Given the description of an element on the screen output the (x, y) to click on. 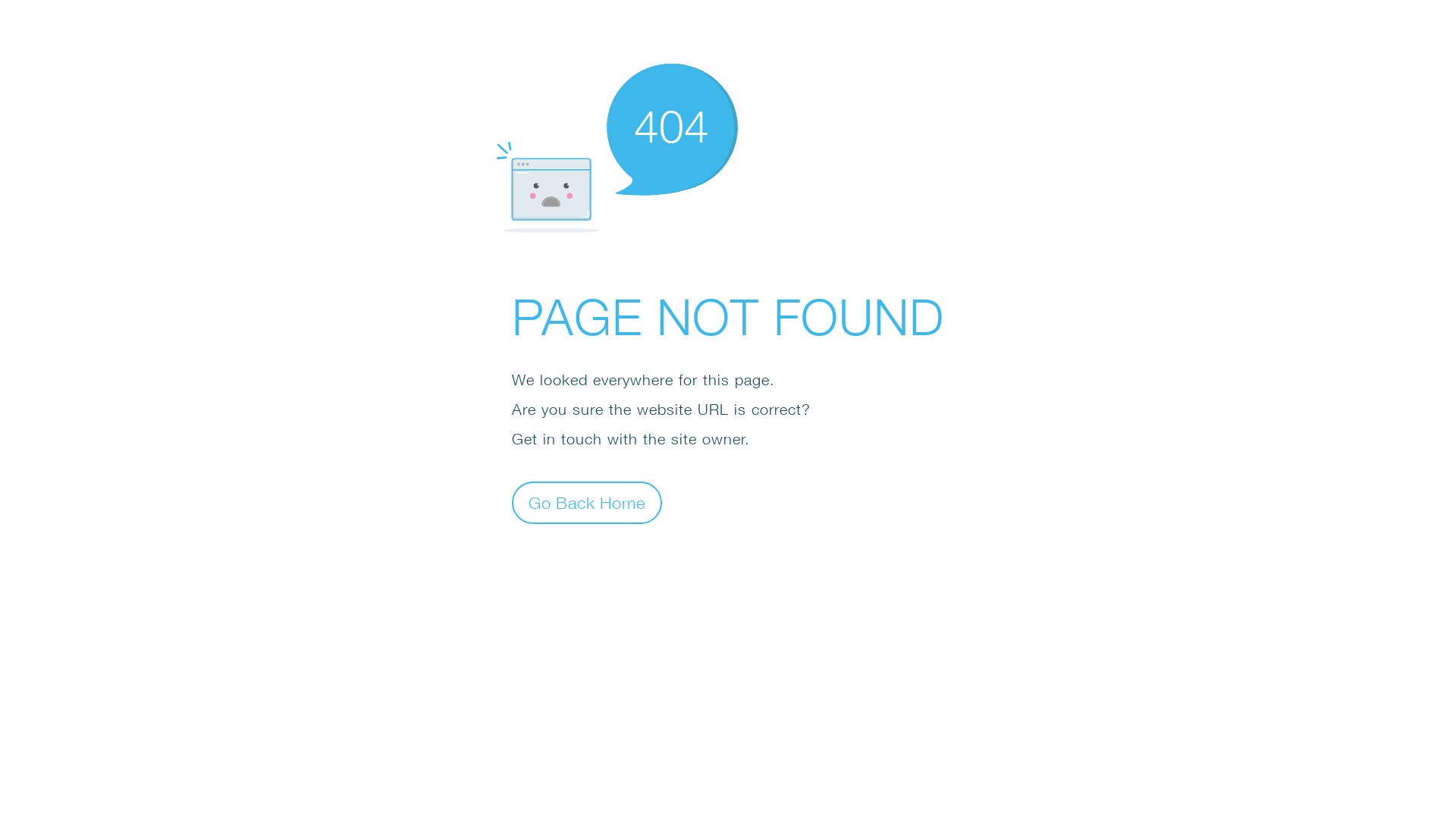
Go Back Home Element type: text (586, 502)
